Given the description of an element on the screen output the (x, y) to click on. 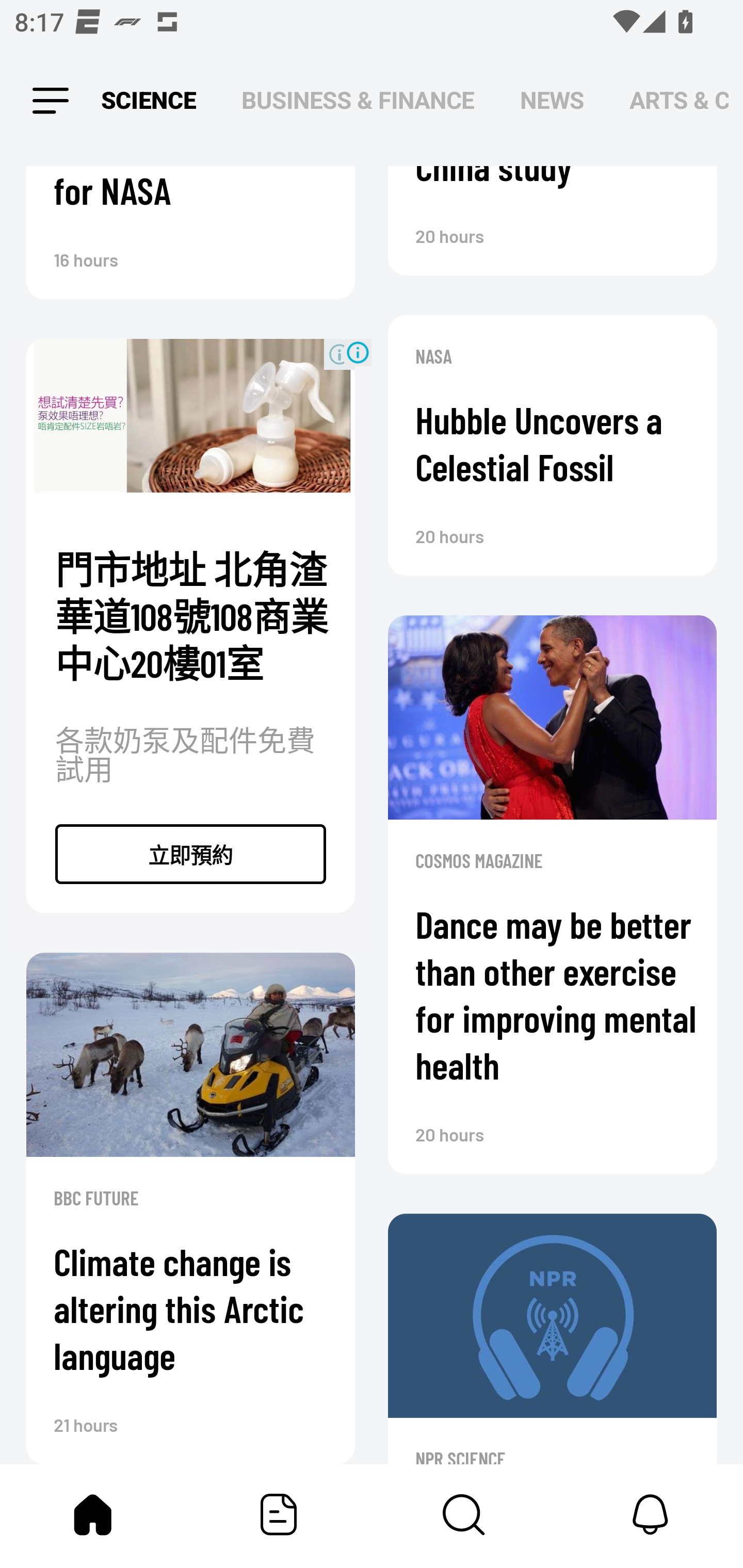
Leading Icon (50, 101)
BUSINESS & FINANCE (357, 100)
NEWS (551, 100)
ARTS & CULTURE (678, 100)
Ad Choices Icon (357, 352)
Featured (278, 1514)
Content Store (464, 1514)
Notifications (650, 1514)
